Given the description of an element on the screen output the (x, y) to click on. 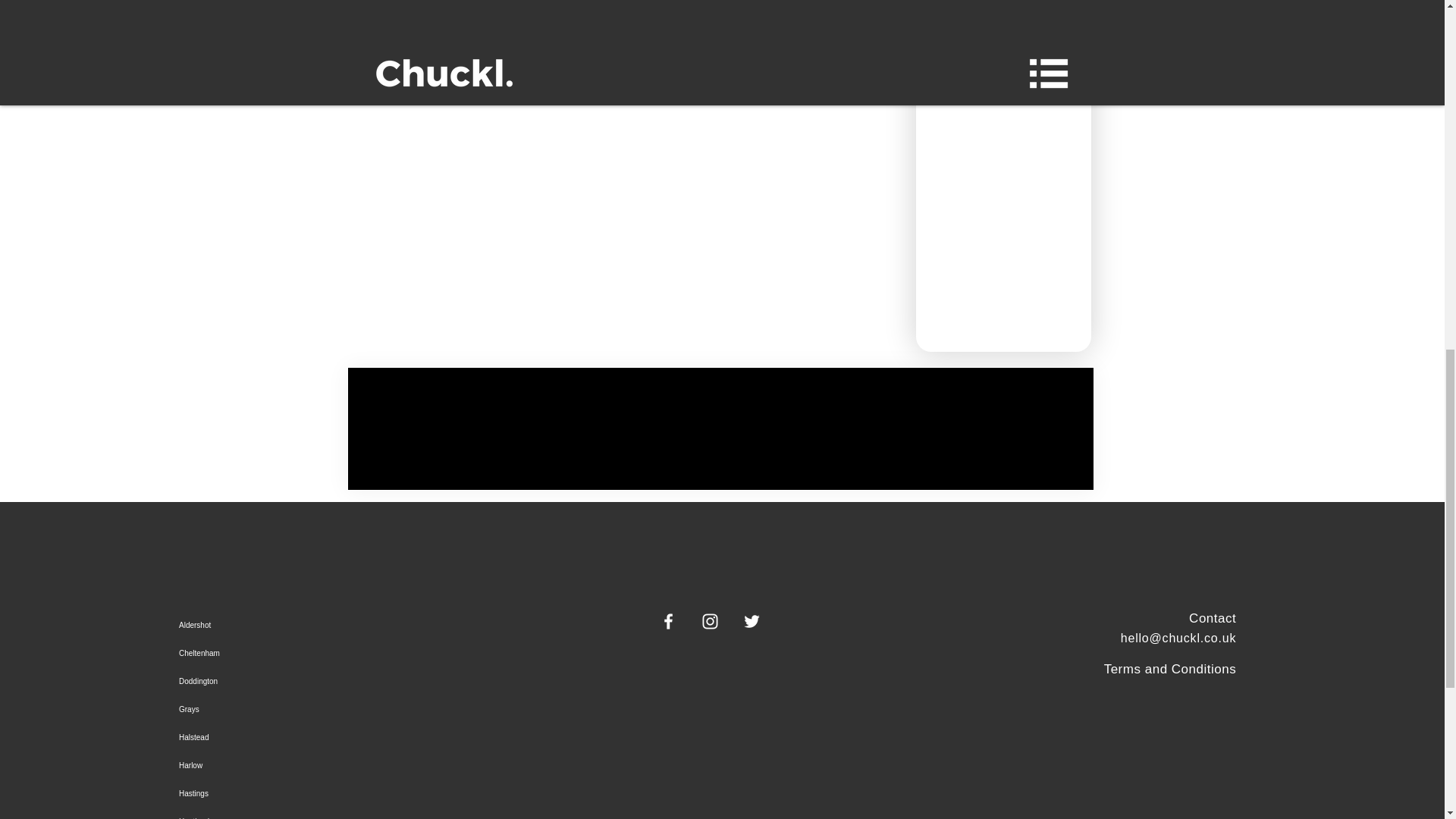
Halstead (323, 737)
Purchase Tickets (439, 4)
Terms and Conditions (1169, 668)
Contact (1212, 617)
Huntingdon (323, 813)
Doddington (323, 681)
Purchase Tickets (630, 4)
Aldershot (323, 624)
Harlow (323, 765)
Grays (323, 709)
Cheltenham (323, 653)
Hastings (323, 793)
